Given the description of an element on the screen output the (x, y) to click on. 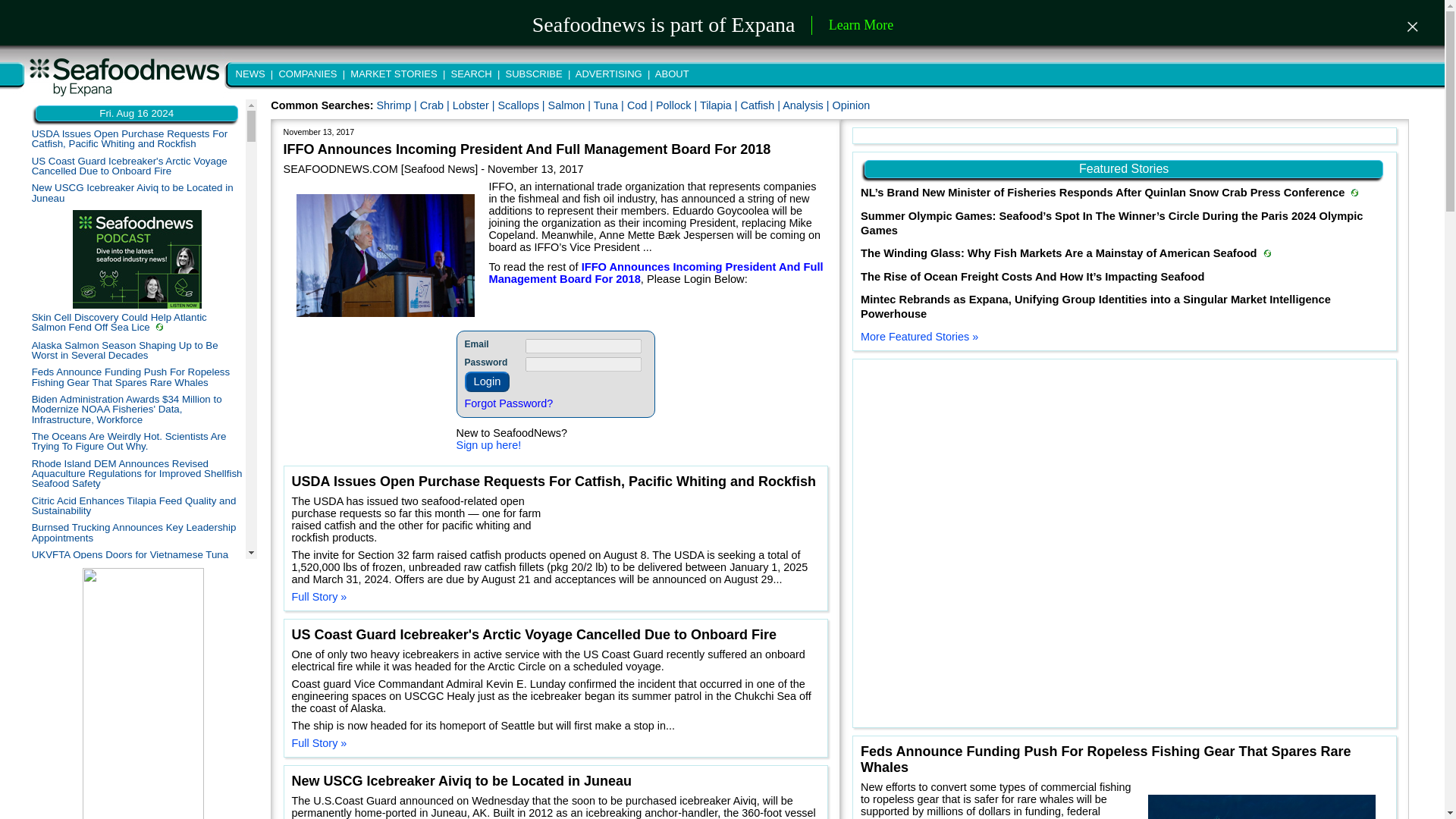
 ABOUT (670, 73)
UKVFTA Opens Doors for Vietnamese Tuna Exports to UK Market (130, 559)
Market Story (35, 809)
Examining Rising Prices Of Groceries (116, 708)
Alaska Fishermen Threaten Peter Pan Boycott (136, 690)
Login (487, 381)
Market Story (159, 326)
